Given the description of an element on the screen output the (x, y) to click on. 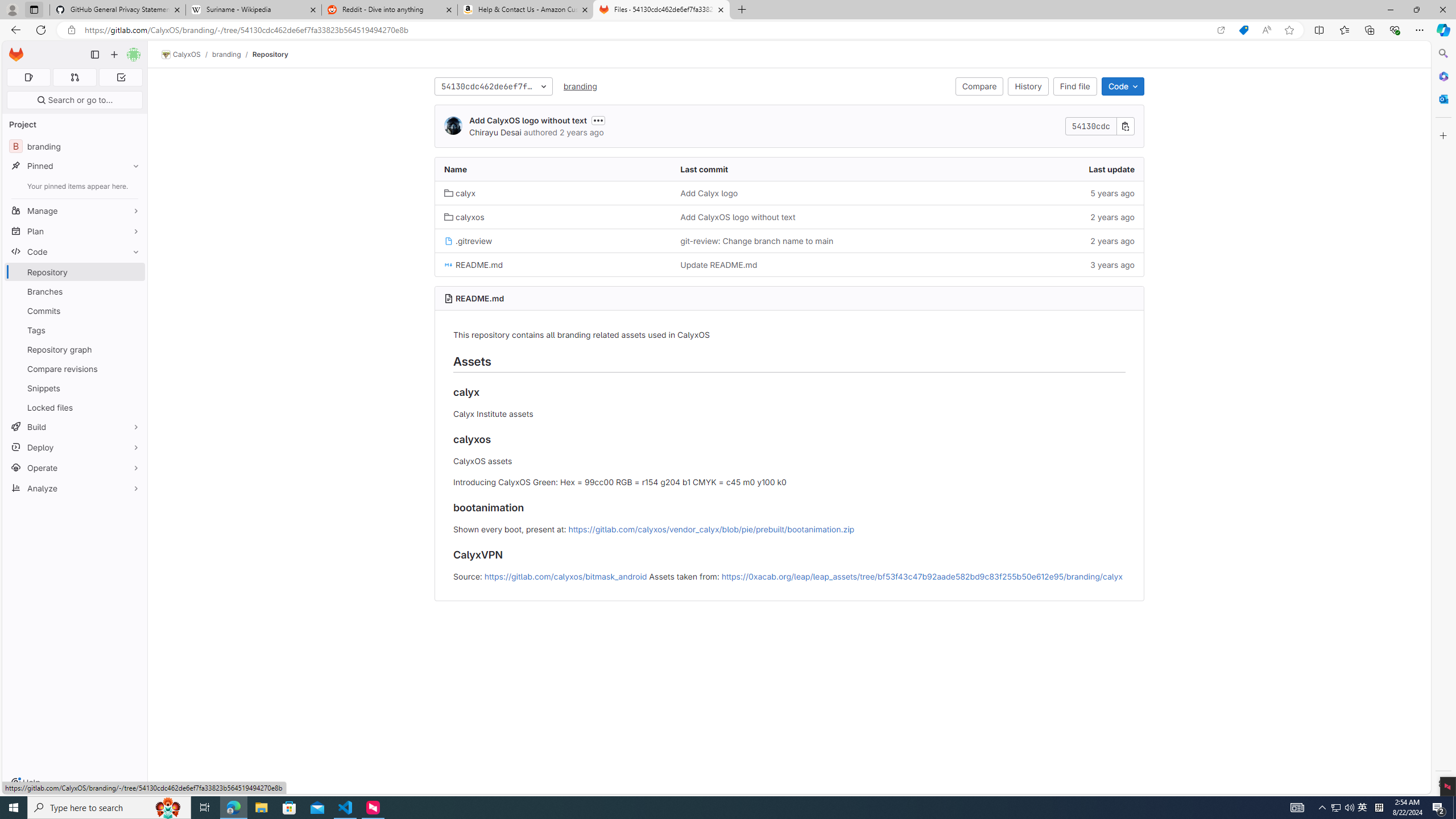
Chirayu Desai (494, 131)
Find file (1074, 85)
Merge requests 0 (74, 76)
branding (579, 85)
.gitreview (553, 240)
B branding (74, 145)
Shopping in Microsoft Edge (1243, 29)
Plan (74, 230)
Copy commit SHA (1125, 126)
Bbranding (74, 145)
Help & Contact Us - Amazon Customer Service (525, 9)
